Given the description of an element on the screen output the (x, y) to click on. 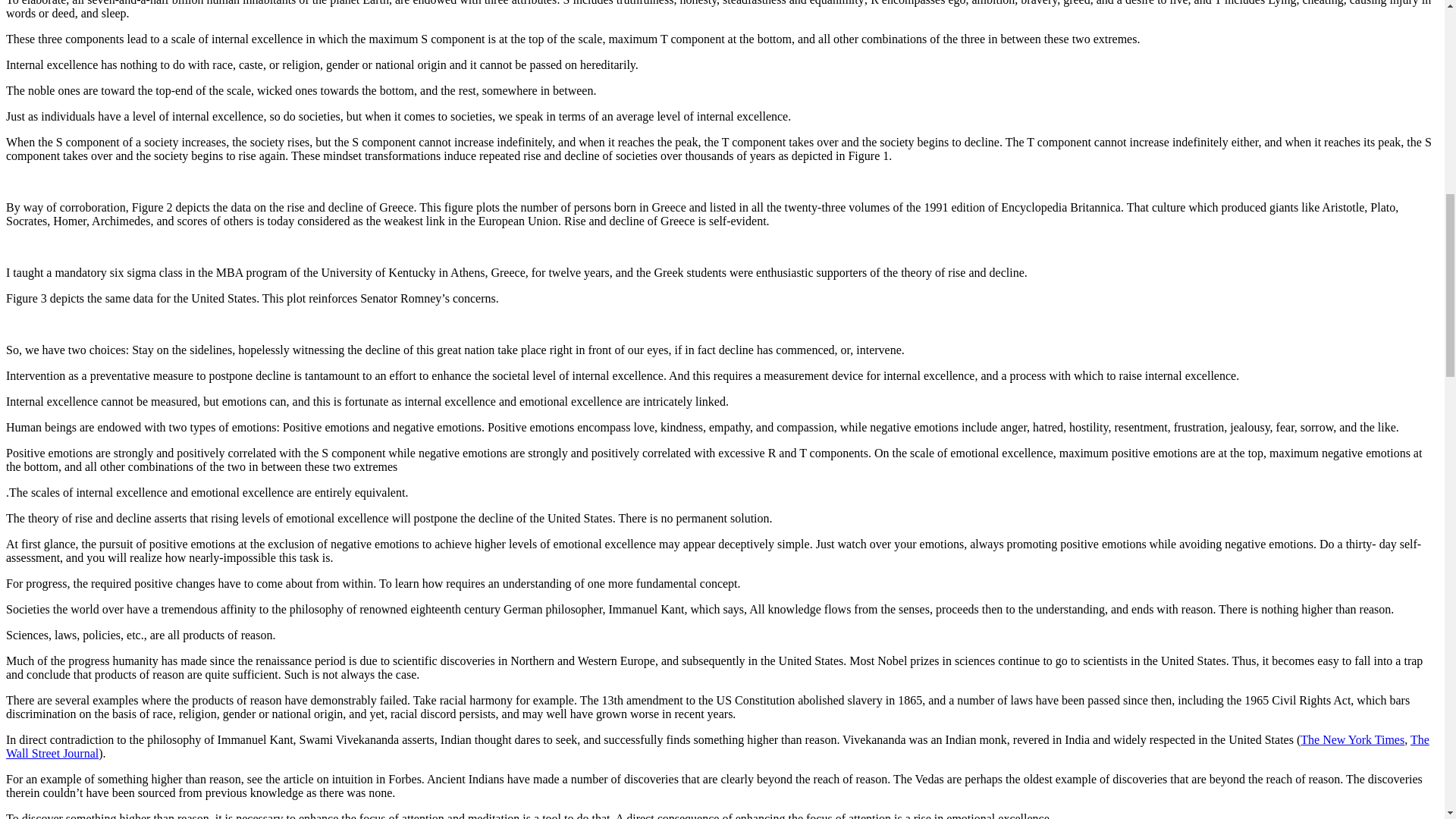
The New York Times (1352, 739)
The Wall Street Journal (717, 746)
